Given the description of an element on the screen output the (x, y) to click on. 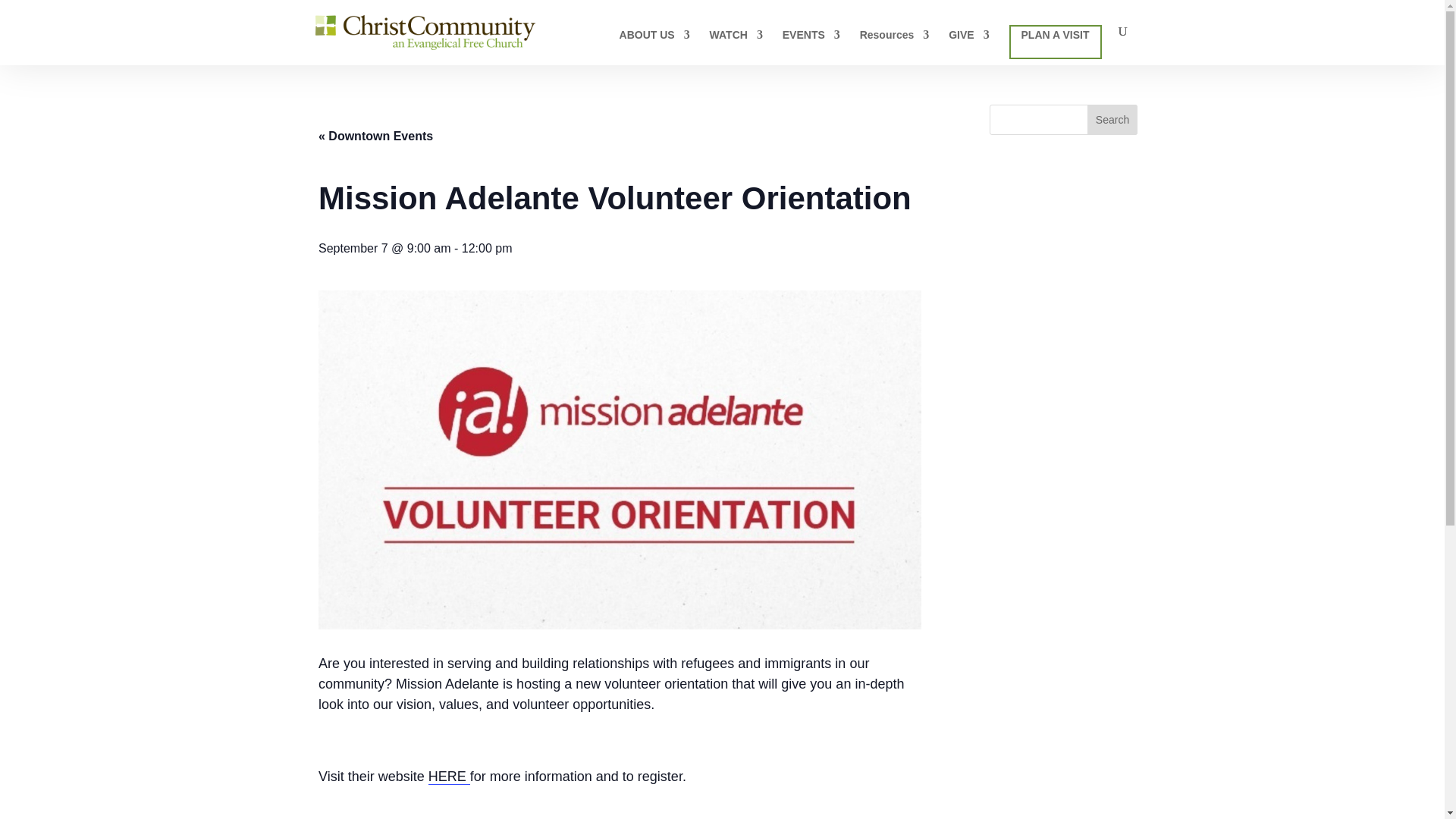
WATCH (736, 47)
EVENTS (811, 47)
ABOUT US (655, 47)
HERE (449, 776)
Resources (895, 47)
GIVE (968, 47)
Search (1112, 119)
PLAN A VISIT (1055, 41)
Search (1112, 119)
